Given the description of an element on the screen output the (x, y) to click on. 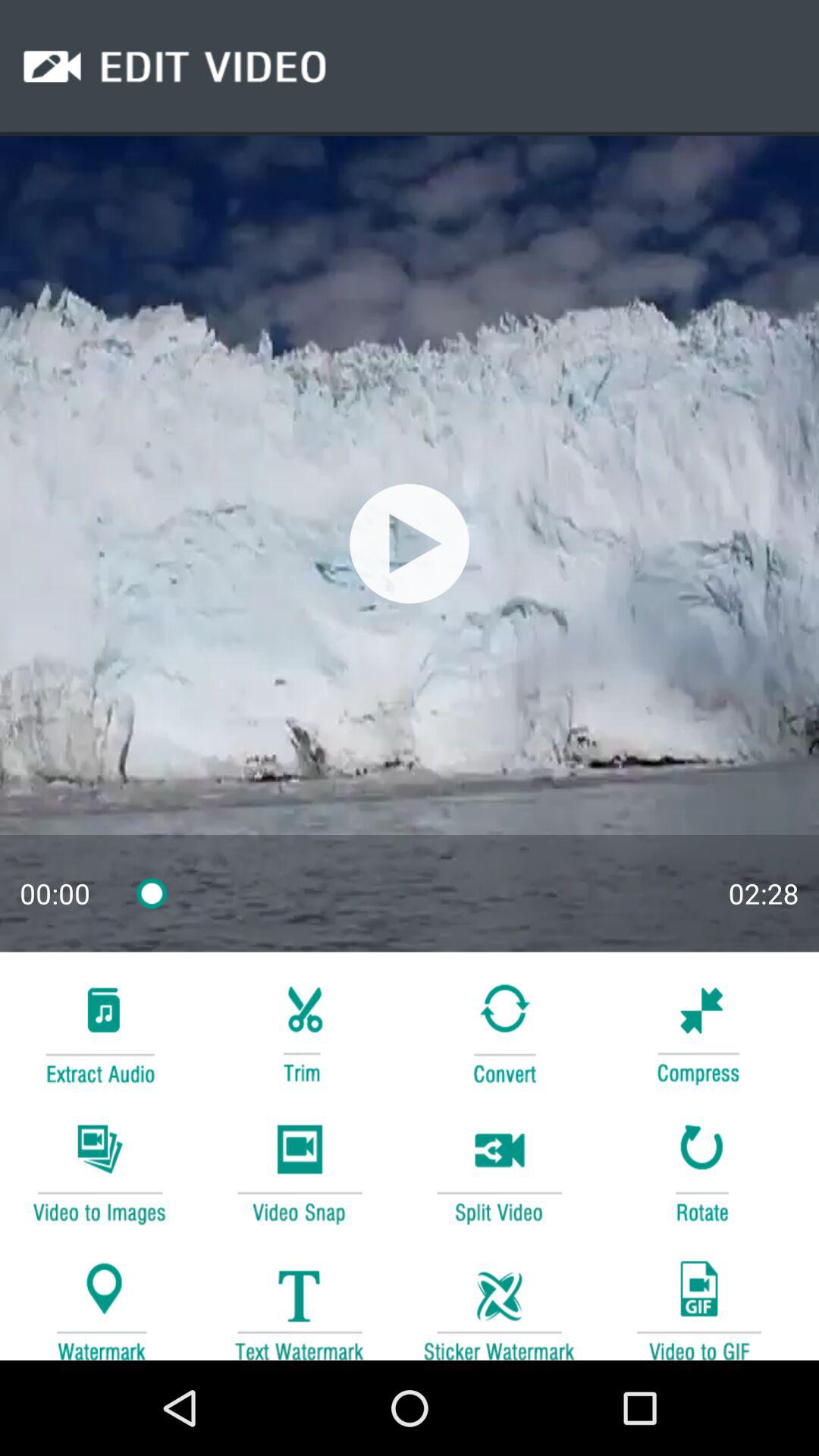
play (409, 543)
